Given the description of an element on the screen output the (x, y) to click on. 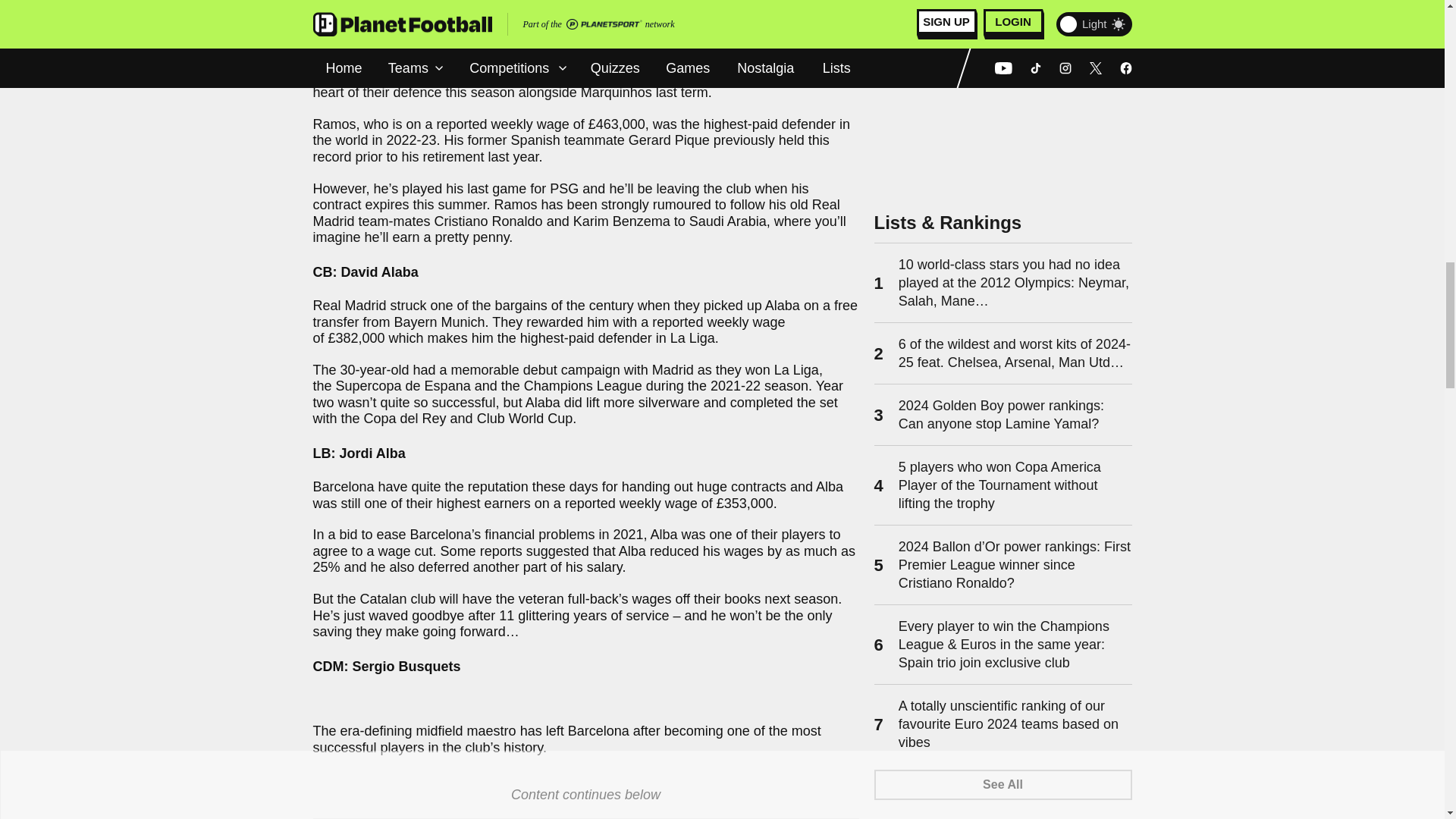
Content continues below (586, 795)
